Given the description of an element on the screen output the (x, y) to click on. 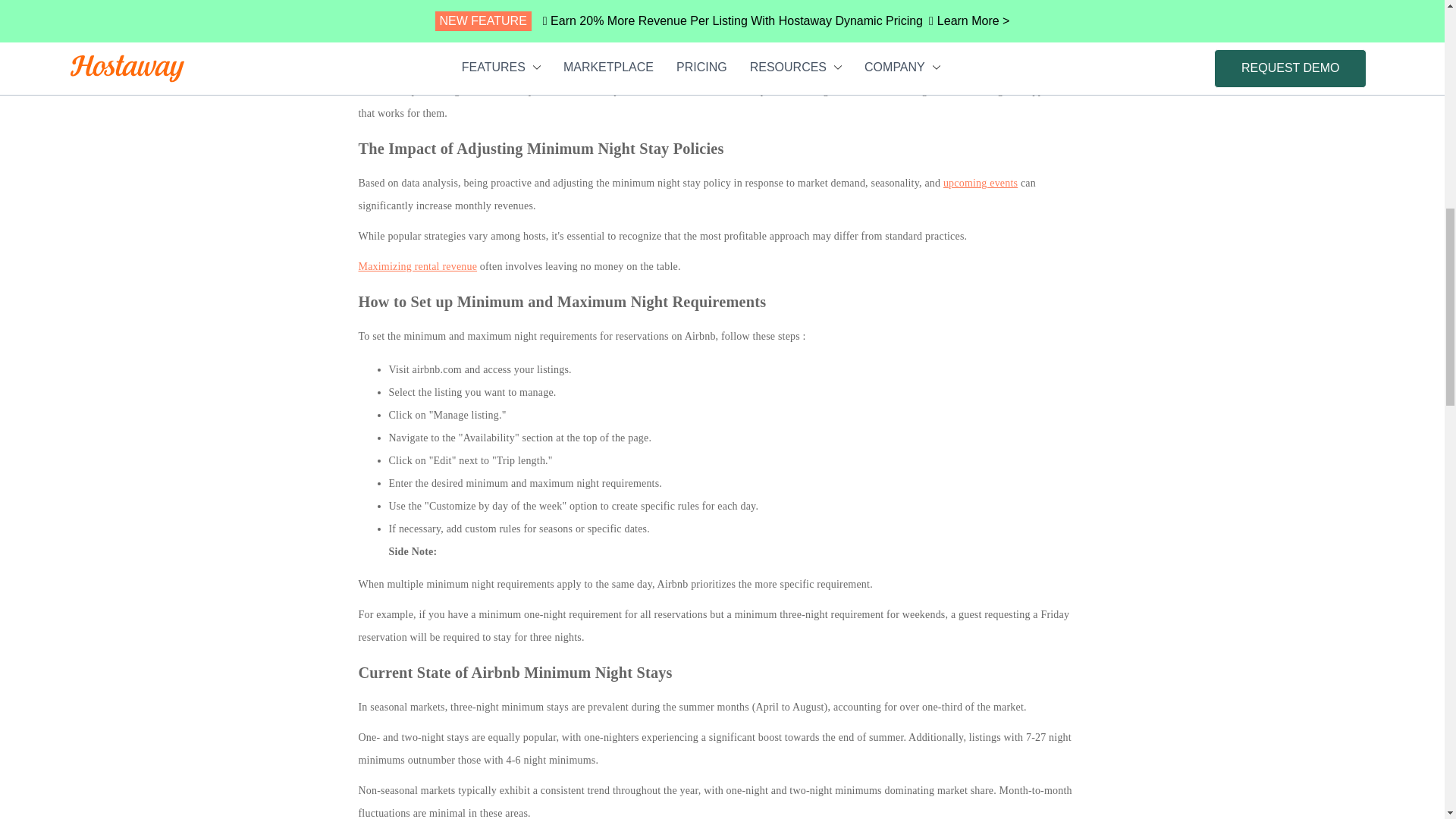
upcoming events (980, 183)
Maximizing rental revenue (417, 266)
The minimum night stay policy (427, 37)
